Given the description of an element on the screen output the (x, y) to click on. 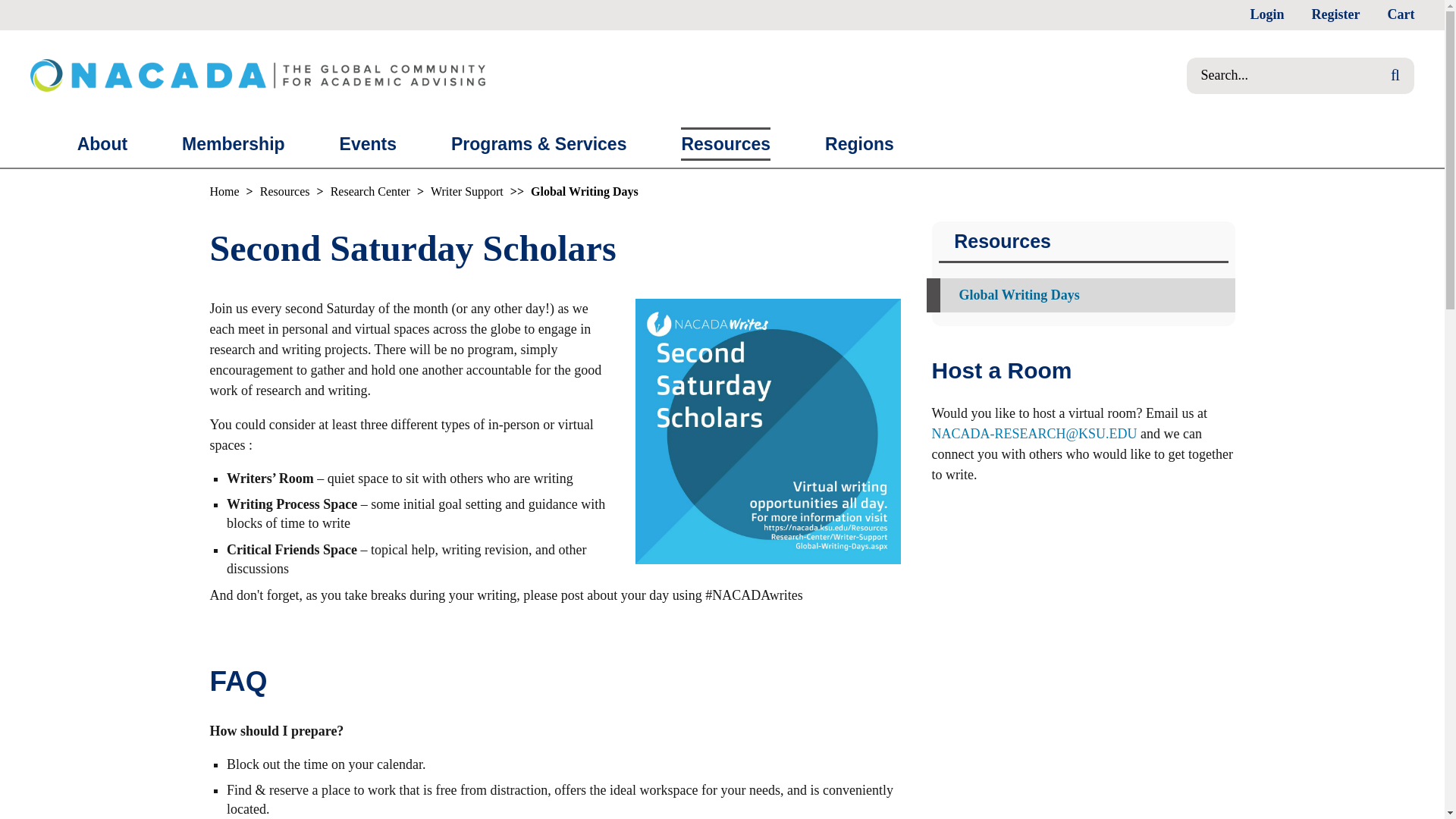
Search (1410, 75)
Events (367, 144)
About (101, 144)
Register (1335, 14)
Cart (1400, 14)
NACADA (257, 74)
Back to home page (230, 191)
Membership (233, 144)
Login (1266, 14)
